Given the description of an element on the screen output the (x, y) to click on. 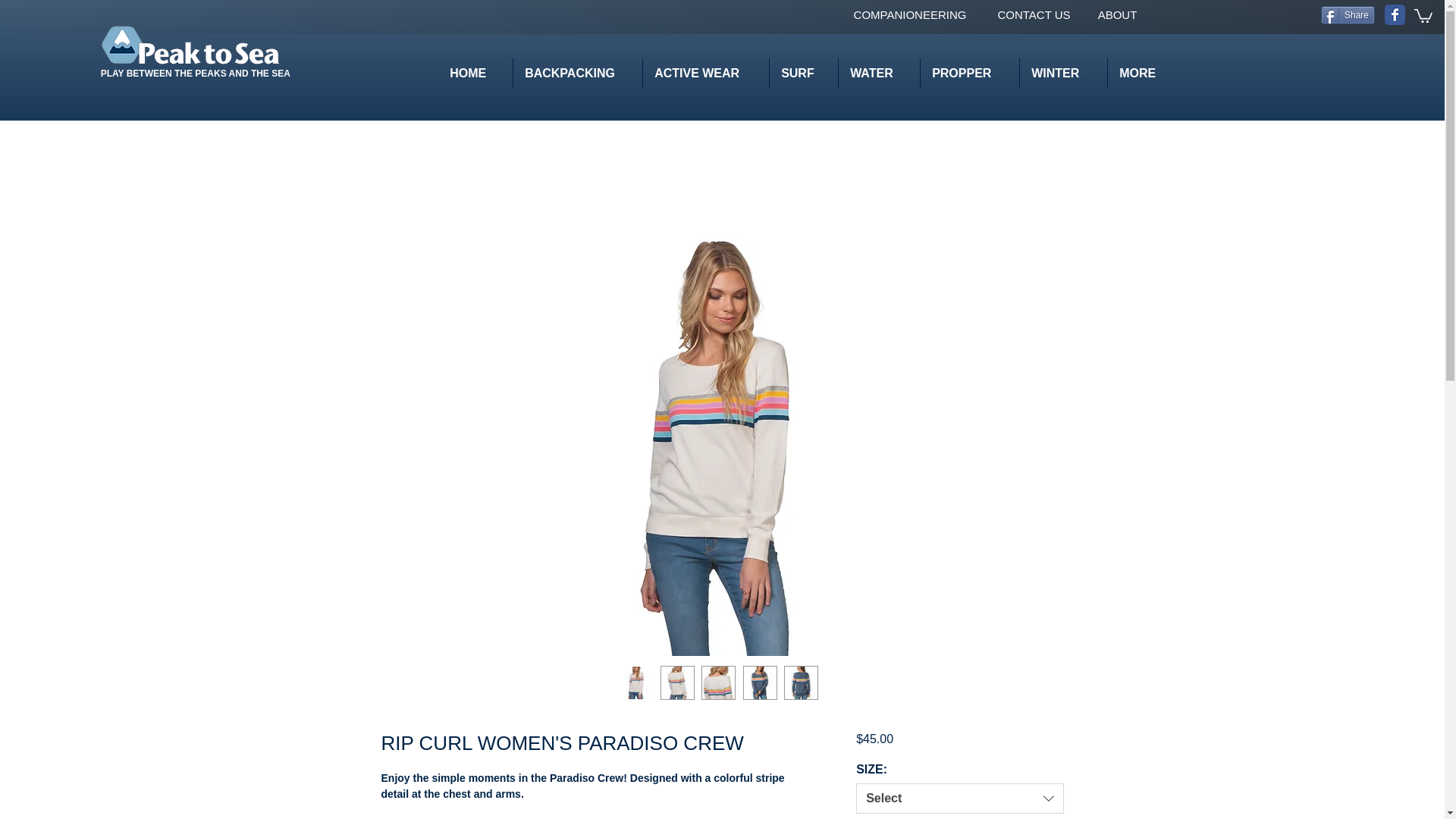
ABOUT (1117, 14)
BACKPACKING (577, 73)
Share (1347, 14)
Share (1347, 14)
ACTIVE WEAR (705, 73)
CONTACT US (1033, 14)
COMPANIONEERING (909, 14)
HOME (475, 73)
